Given the description of an element on the screen output the (x, y) to click on. 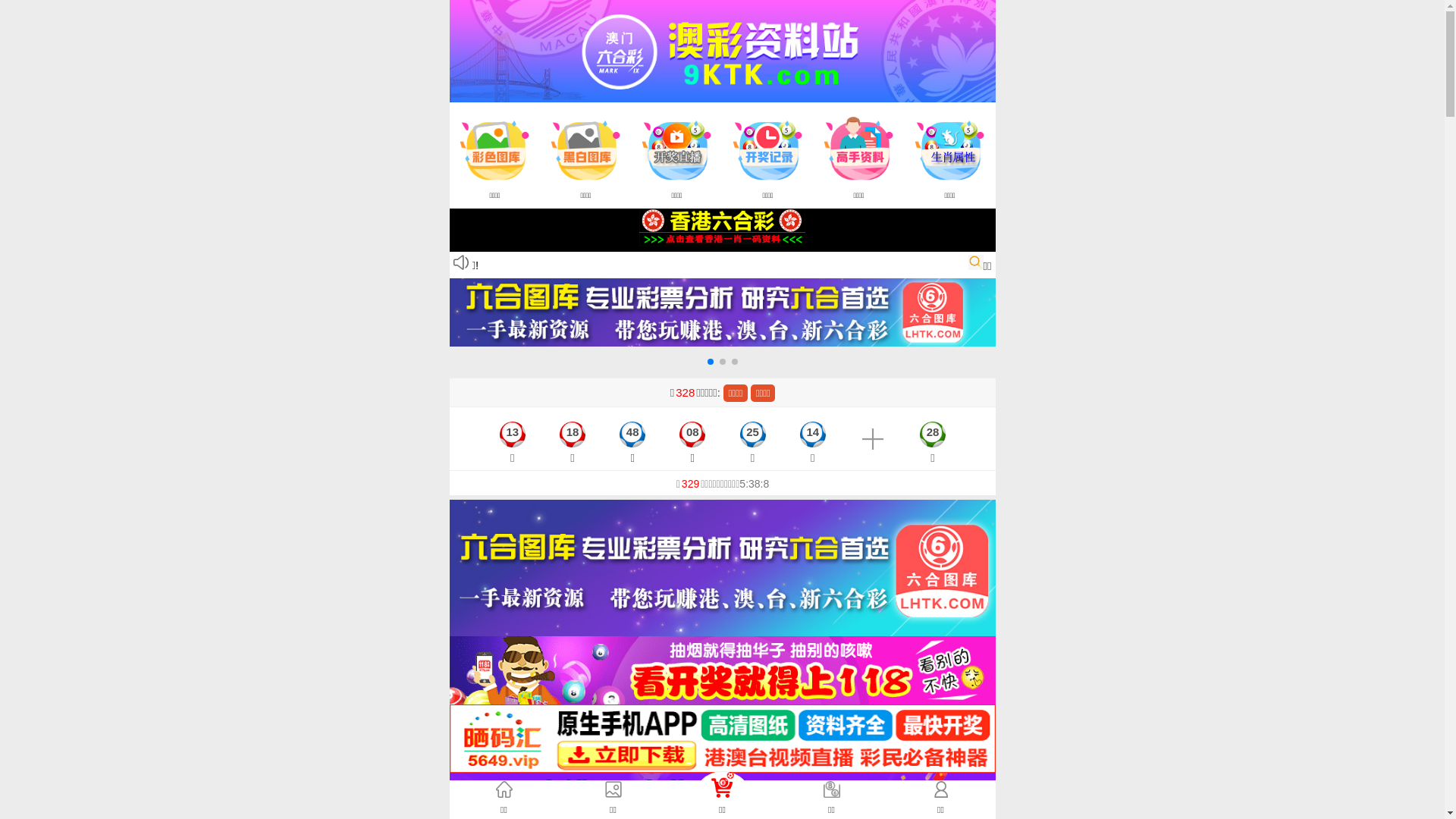
76116 Element type: hover (721, 805)
5649 Element type: hover (721, 737)
4179 Element type: hover (721, 668)
